Given the description of an element on the screen output the (x, y) to click on. 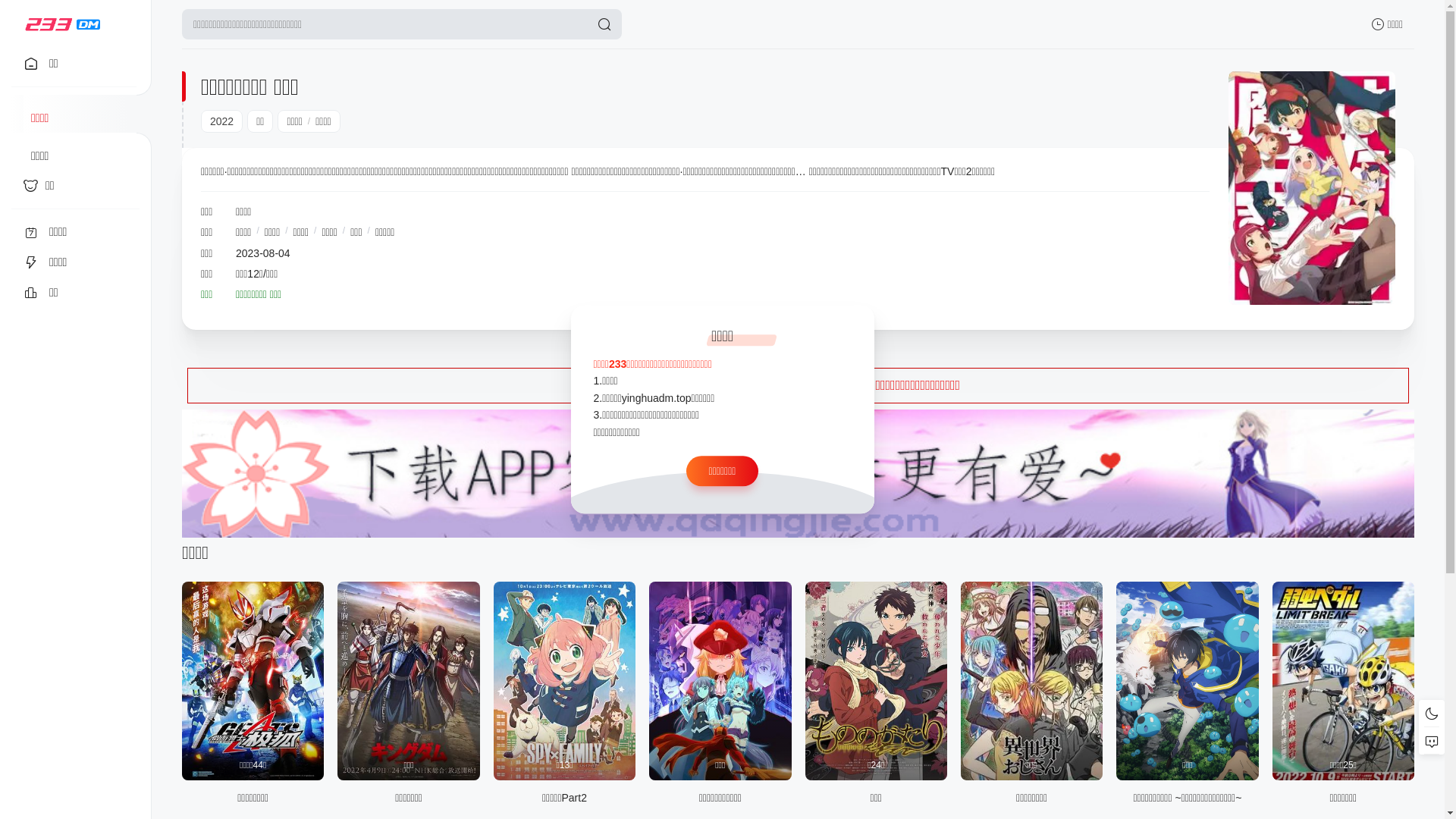
2022 Element type: text (221, 121)
